Given the description of an element on the screen output the (x, y) to click on. 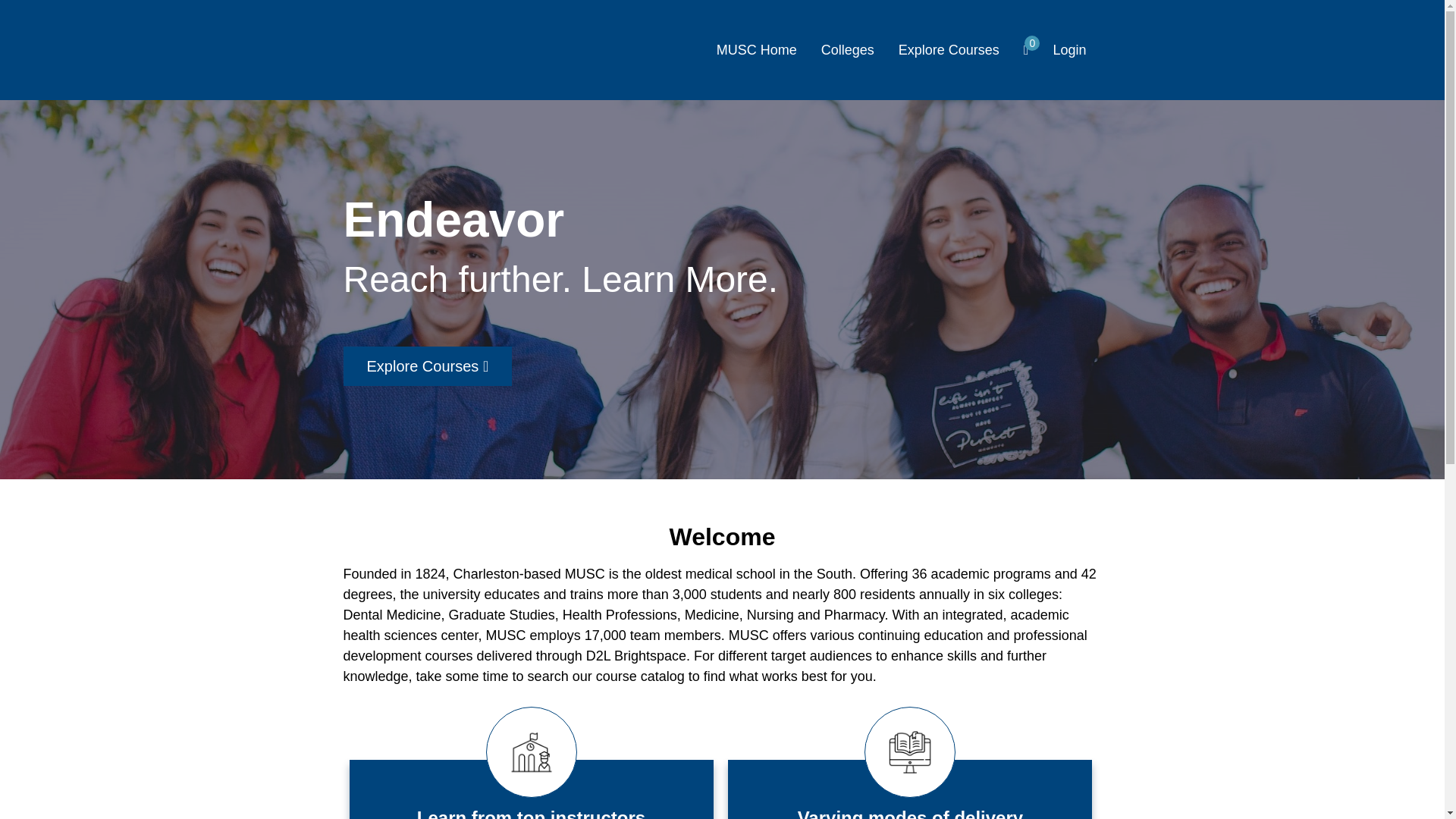
Go to the home page (414, 49)
Colleges (848, 49)
Explore Courses (427, 365)
Explore Courses (948, 49)
Login (1069, 49)
MUSC Home (756, 49)
Go to the home page (414, 49)
